Given the description of an element on the screen output the (x, y) to click on. 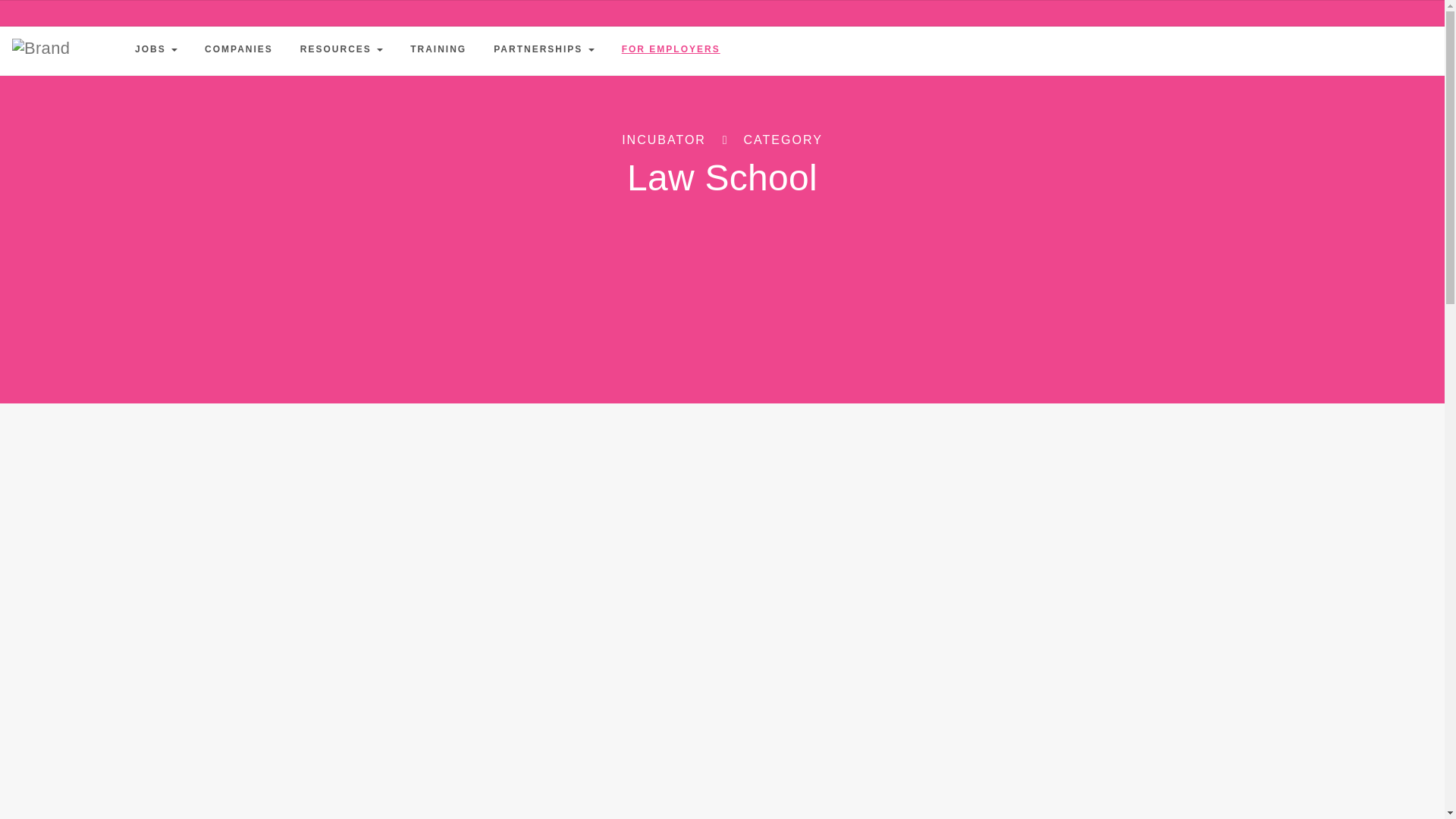
CATEGORY (782, 140)
COMPANIES (238, 49)
RESOURCES (341, 49)
FOR EMPLOYERS (670, 49)
TRAINING (438, 49)
INCUBATOR (663, 140)
JOBS (155, 49)
PARTNERSHIPS (543, 49)
